Given the description of an element on the screen output the (x, y) to click on. 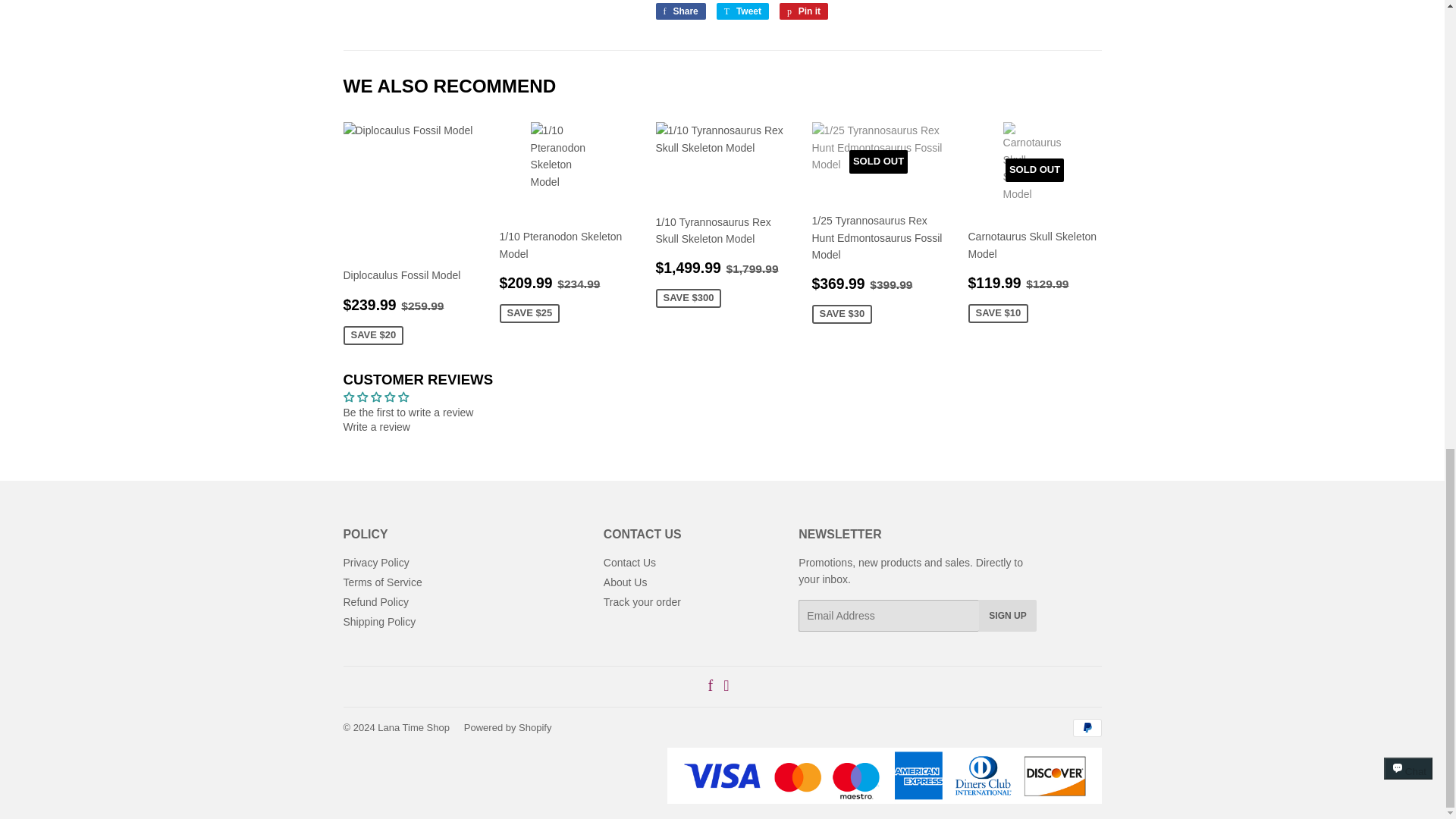
PayPal (1085, 728)
Share on Facebook (679, 11)
Pin on Pinterest (803, 11)
Tweet on Twitter (742, 11)
